Given the description of an element on the screen output the (x, y) to click on. 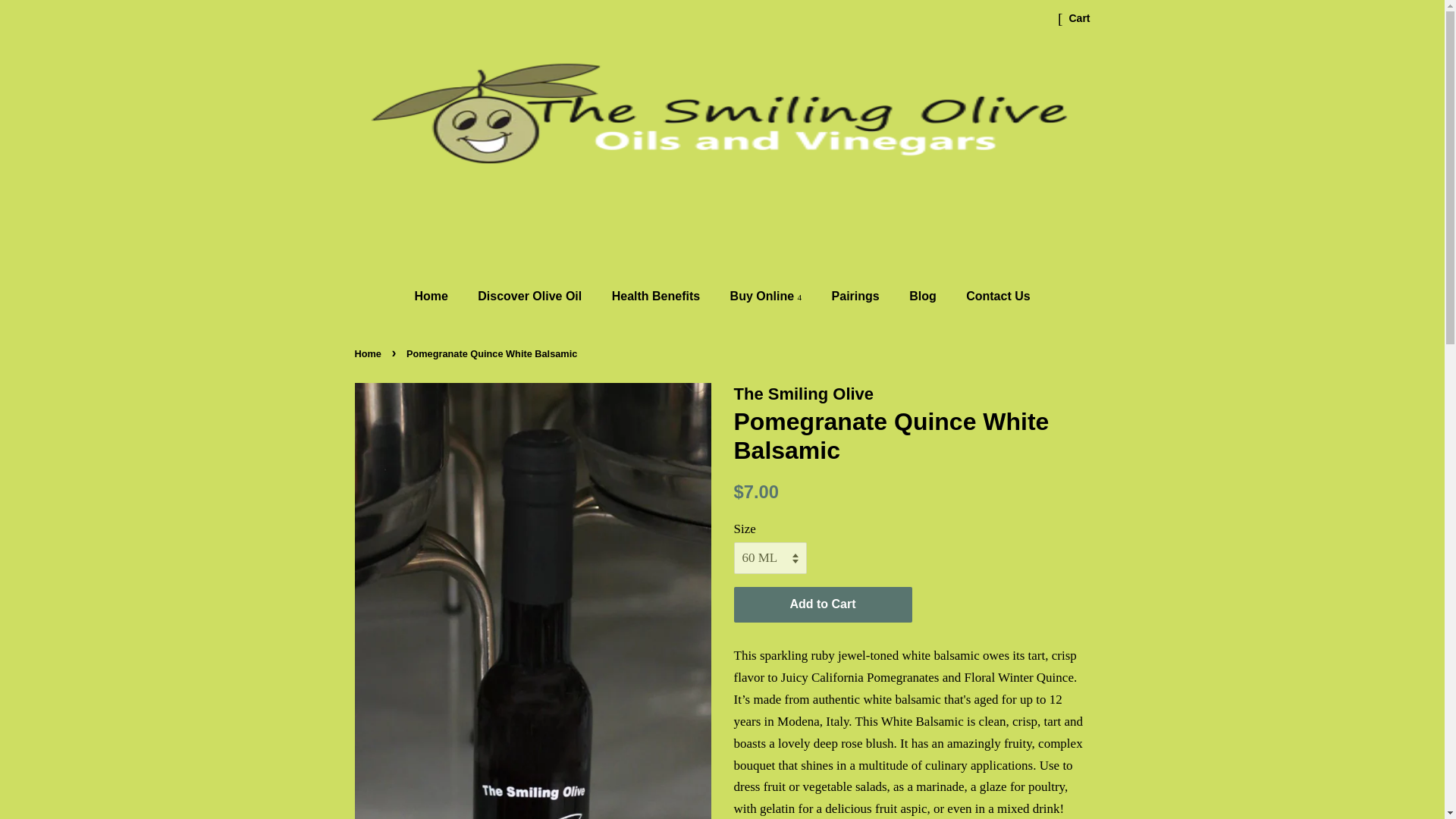
Home (370, 353)
Back to the frontpage (370, 353)
Pairings (858, 296)
Discover Olive Oil (530, 296)
Buy Online (767, 296)
Blog (925, 296)
Health Benefits (656, 296)
Cart (1078, 18)
Contact Us (992, 296)
Add to Cart (822, 604)
Home (438, 296)
